Given the description of an element on the screen output the (x, y) to click on. 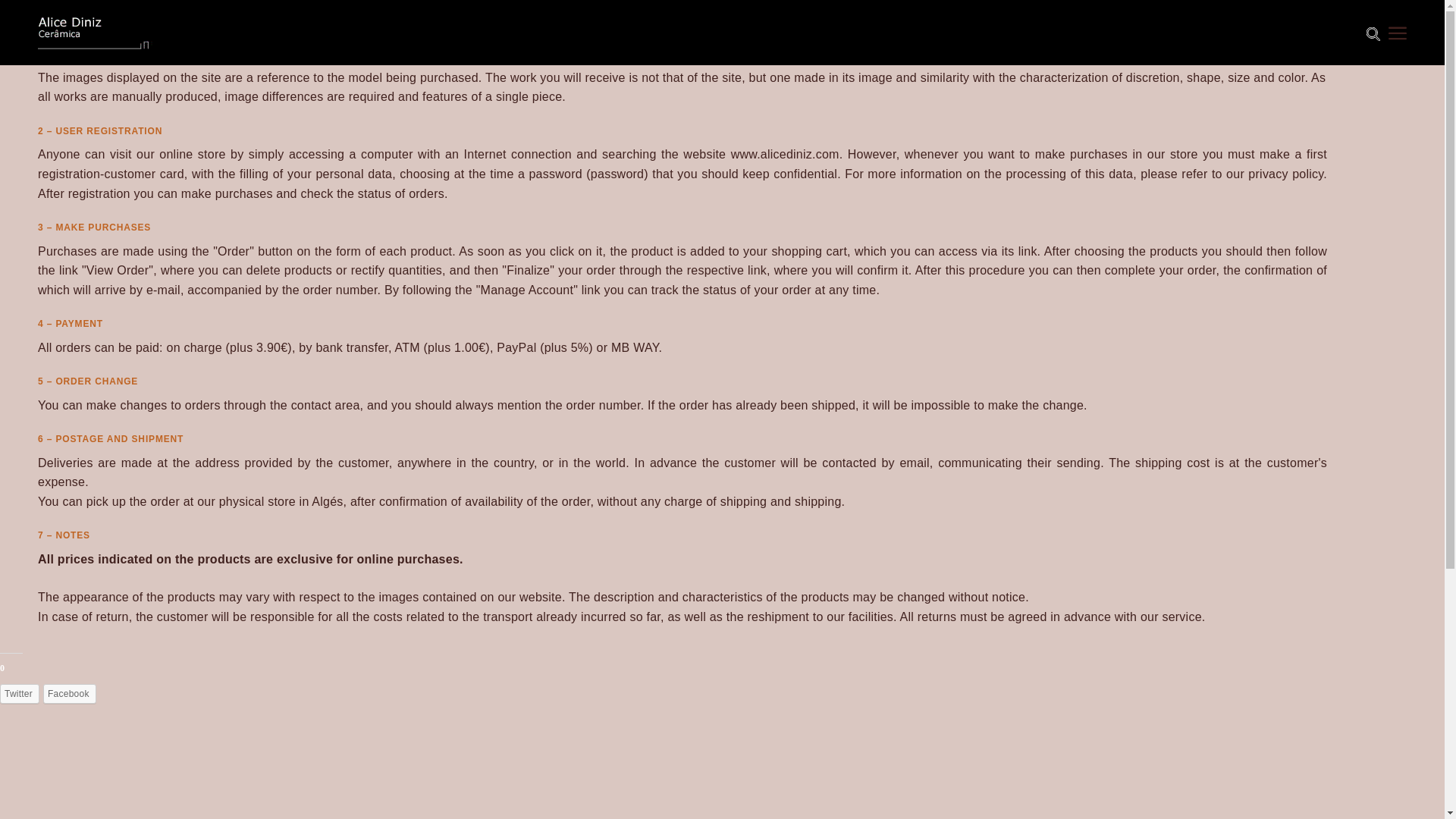
Facebook (69, 693)
Alice Diniz (121, 33)
Click to share on Twitter (19, 693)
Search (1373, 33)
Twitter (19, 693)
Click to share on Facebook (69, 693)
